Given the description of an element on the screen output the (x, y) to click on. 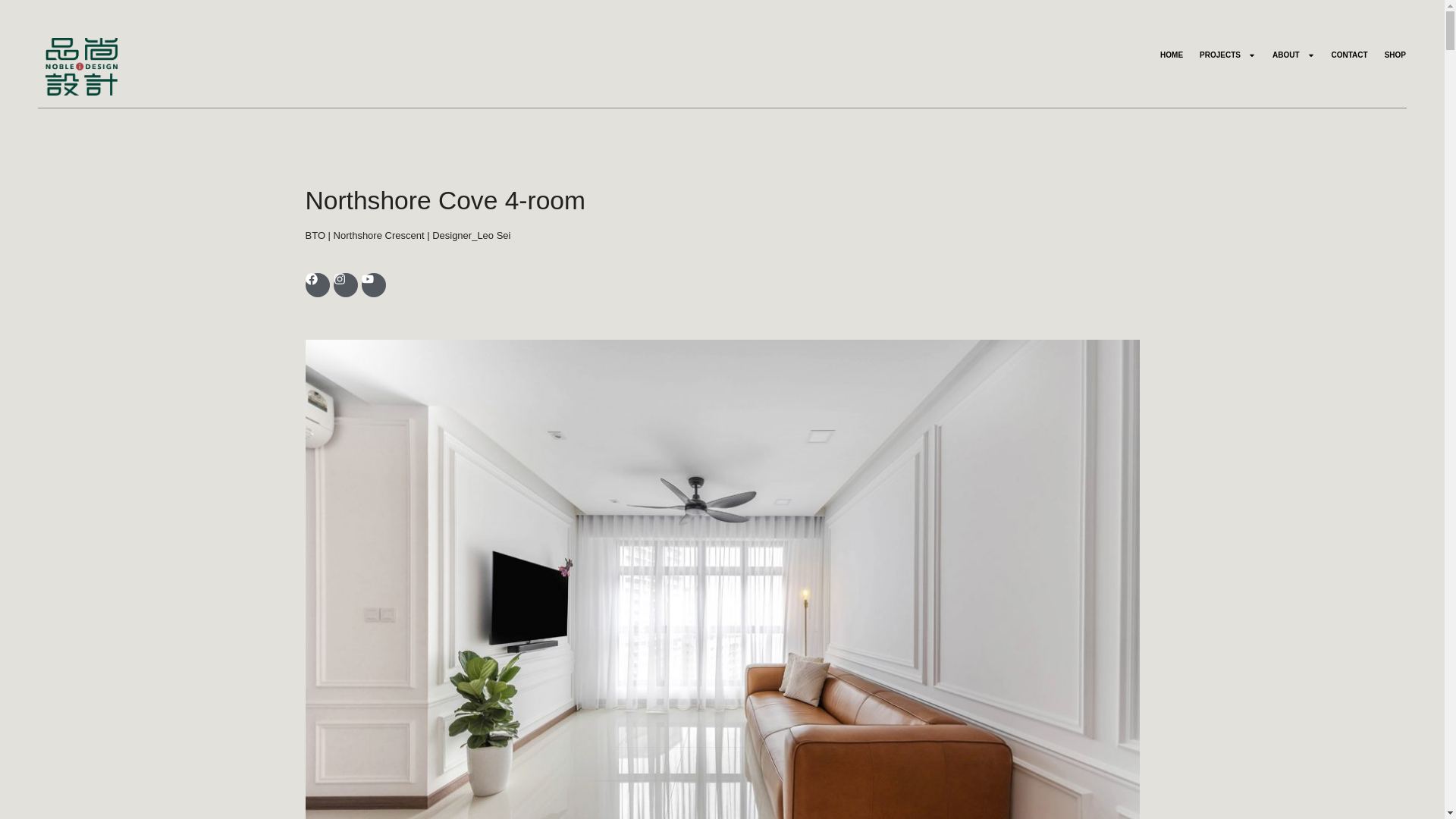
HOME (1171, 54)
SHOP (1394, 54)
PROJECTS (1227, 54)
ABOUT (1293, 54)
CONTACT (1349, 54)
